Given the description of an element on the screen output the (x, y) to click on. 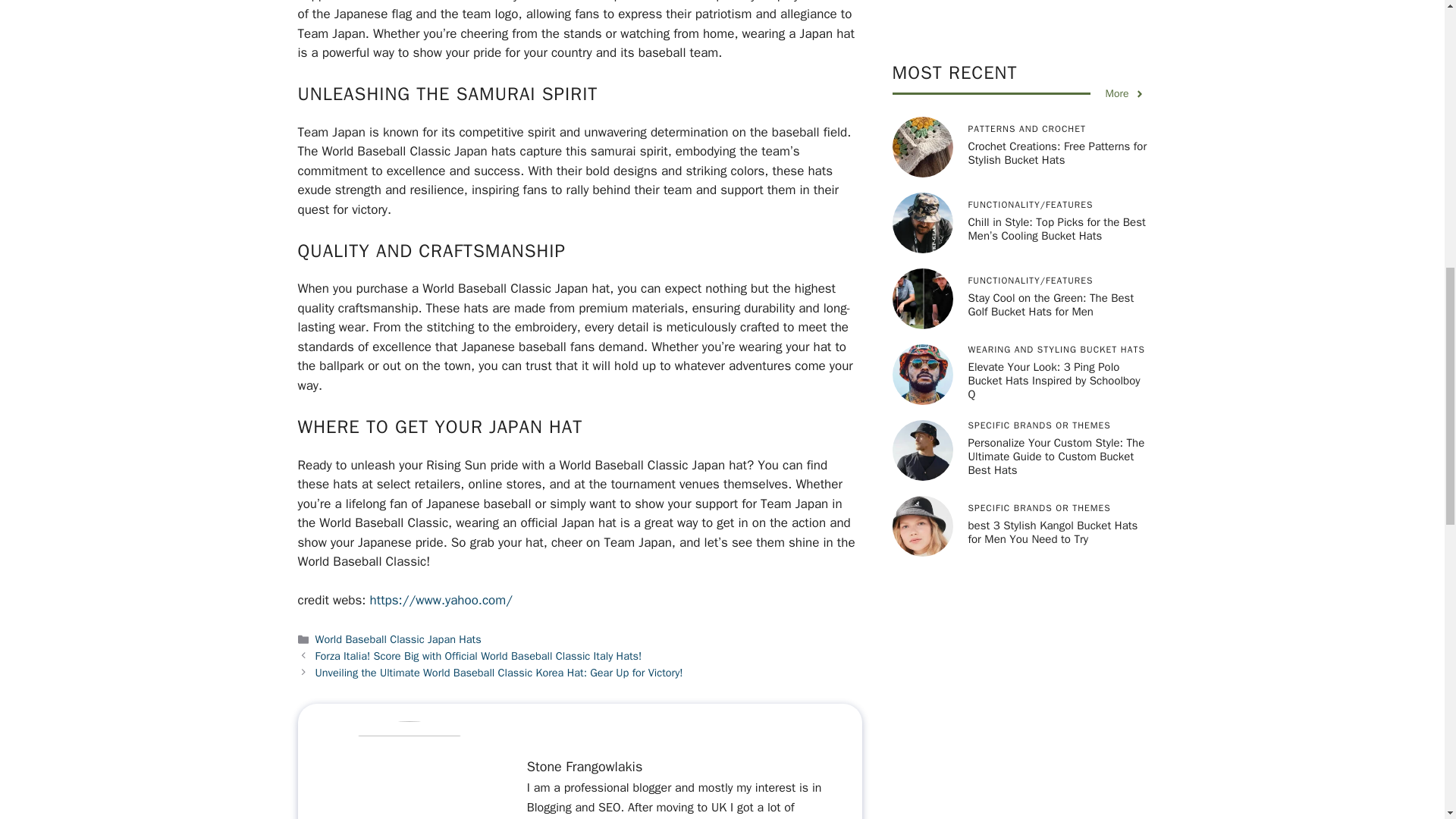
best 3 Stylish Kangol Bucket Hats for Men You Need to Try (1052, 88)
World Baseball Classic Japan Hats (398, 639)
